Given the description of an element on the screen output the (x, y) to click on. 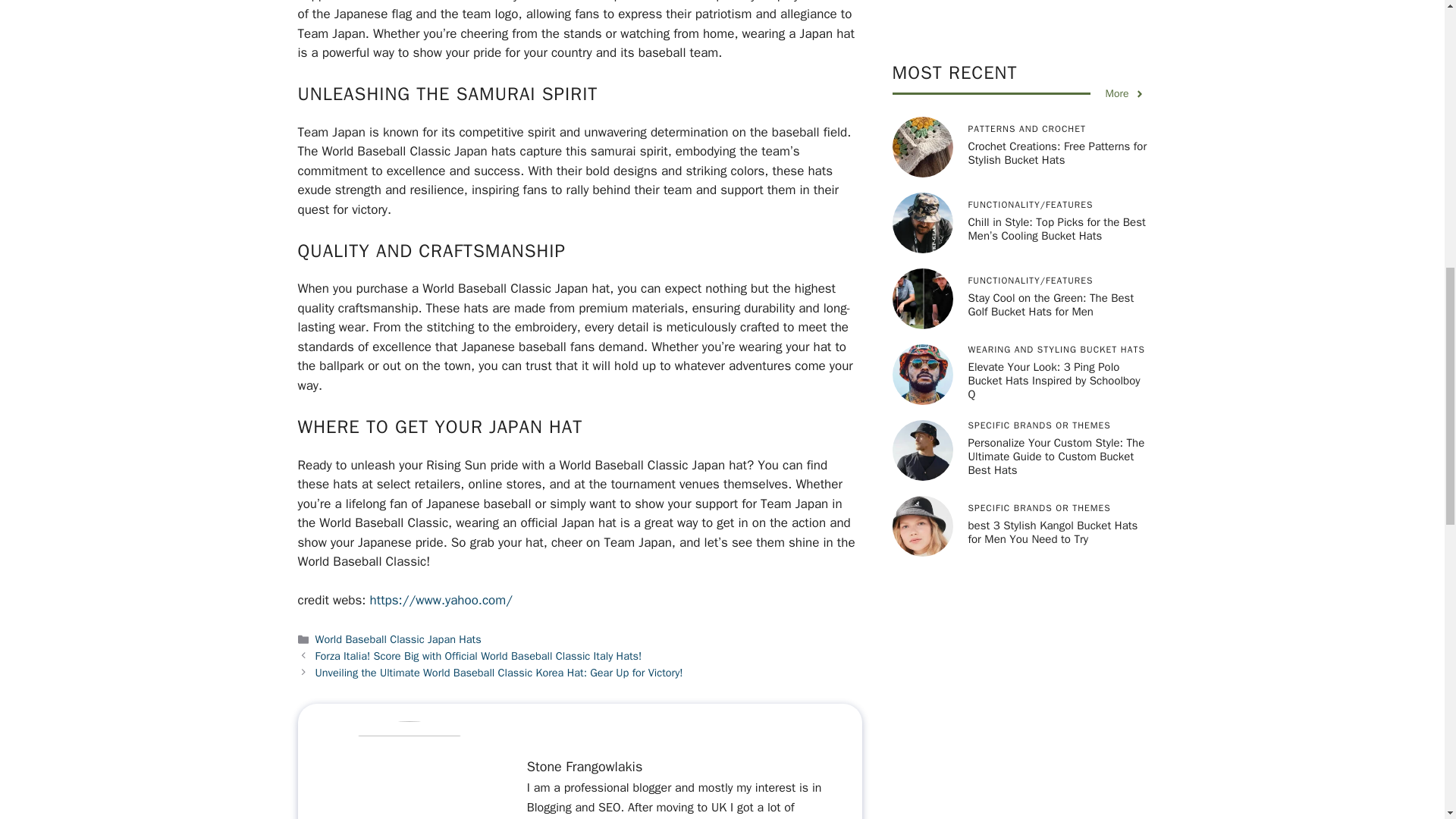
best 3 Stylish Kangol Bucket Hats for Men You Need to Try (1052, 88)
World Baseball Classic Japan Hats (398, 639)
